Given the description of an element on the screen output the (x, y) to click on. 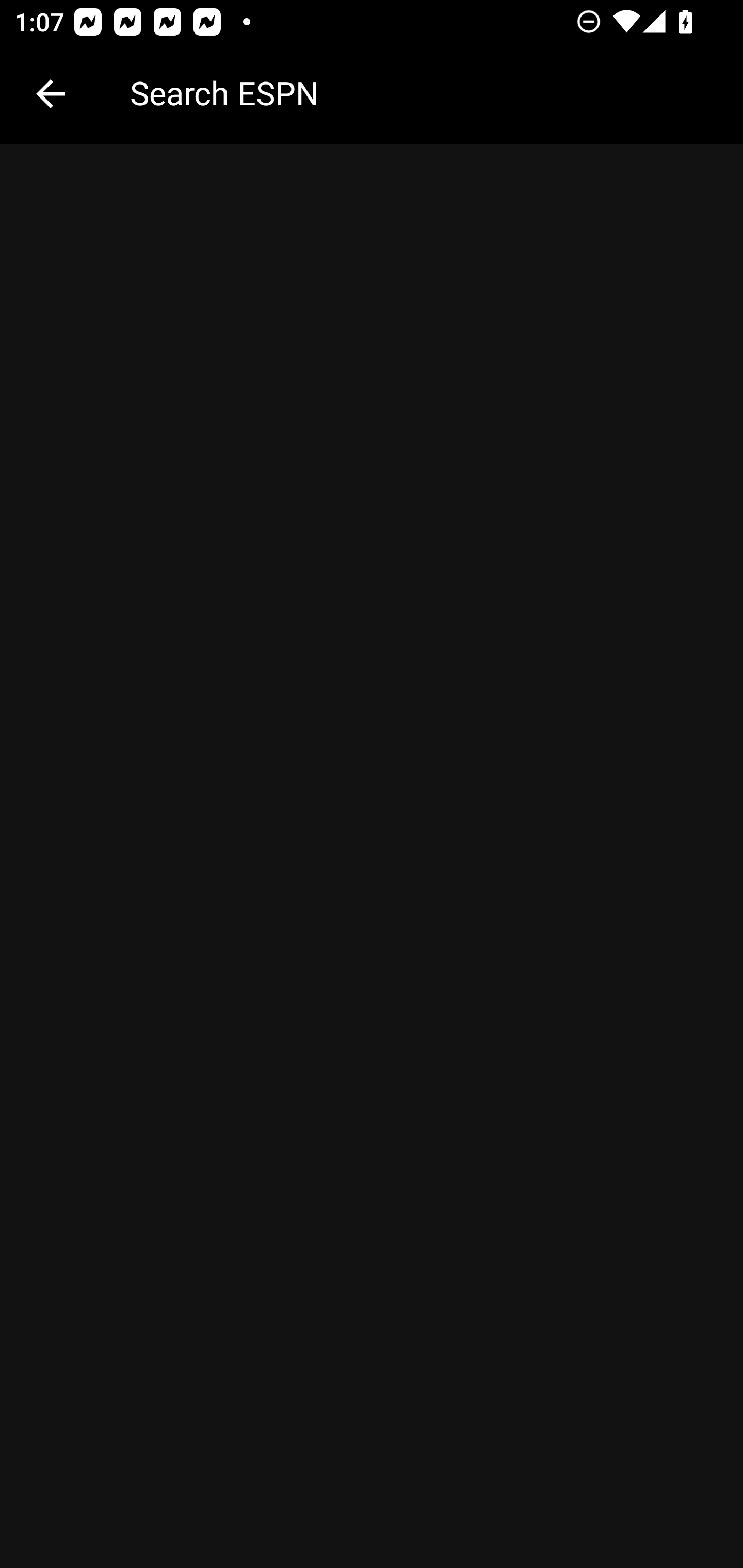
Collapse (50, 93)
Search ESPN (421, 92)
